Given the description of an element on the screen output the (x, y) to click on. 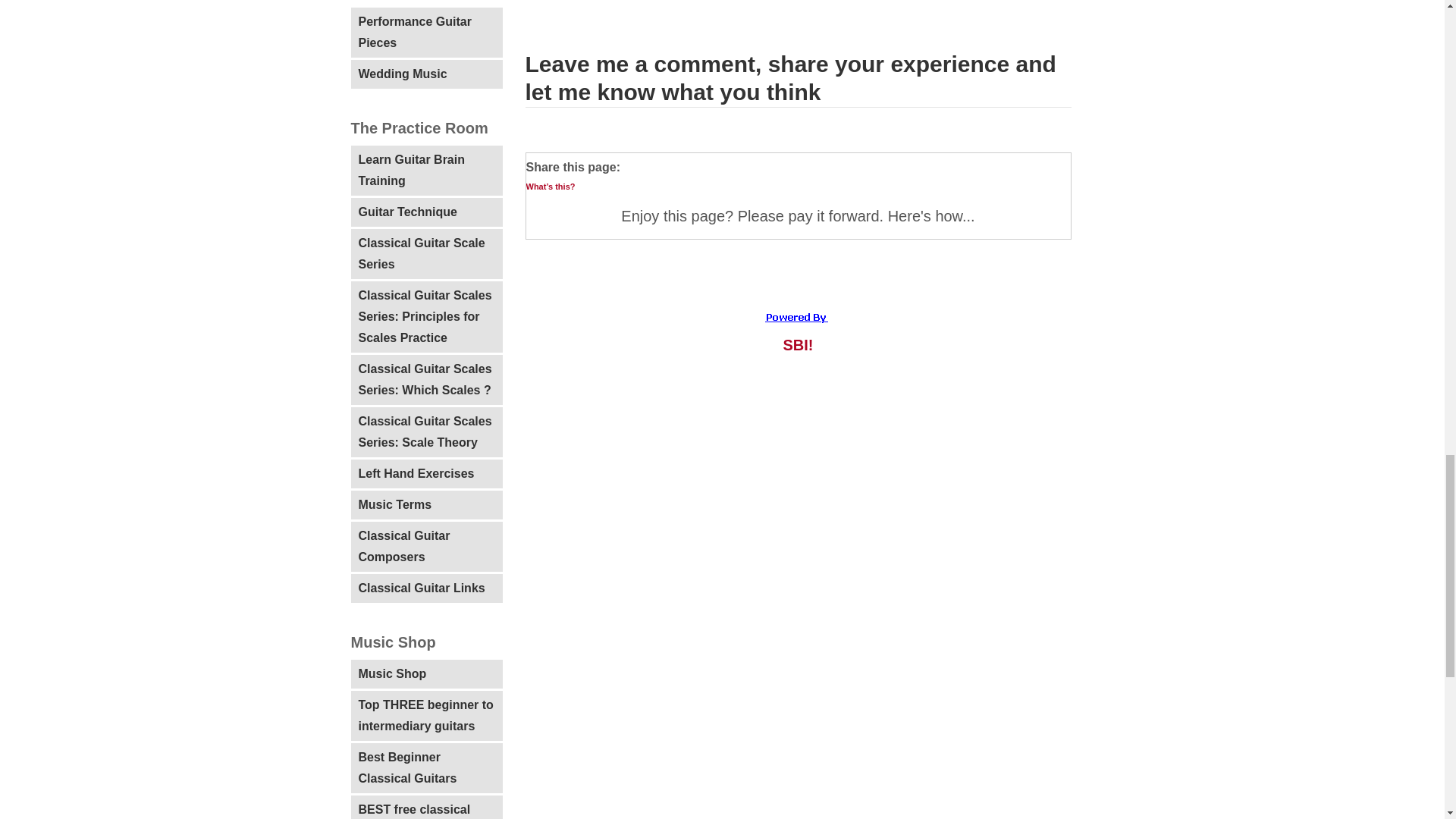
SBI! (797, 344)
